Given the description of an element on the screen output the (x, y) to click on. 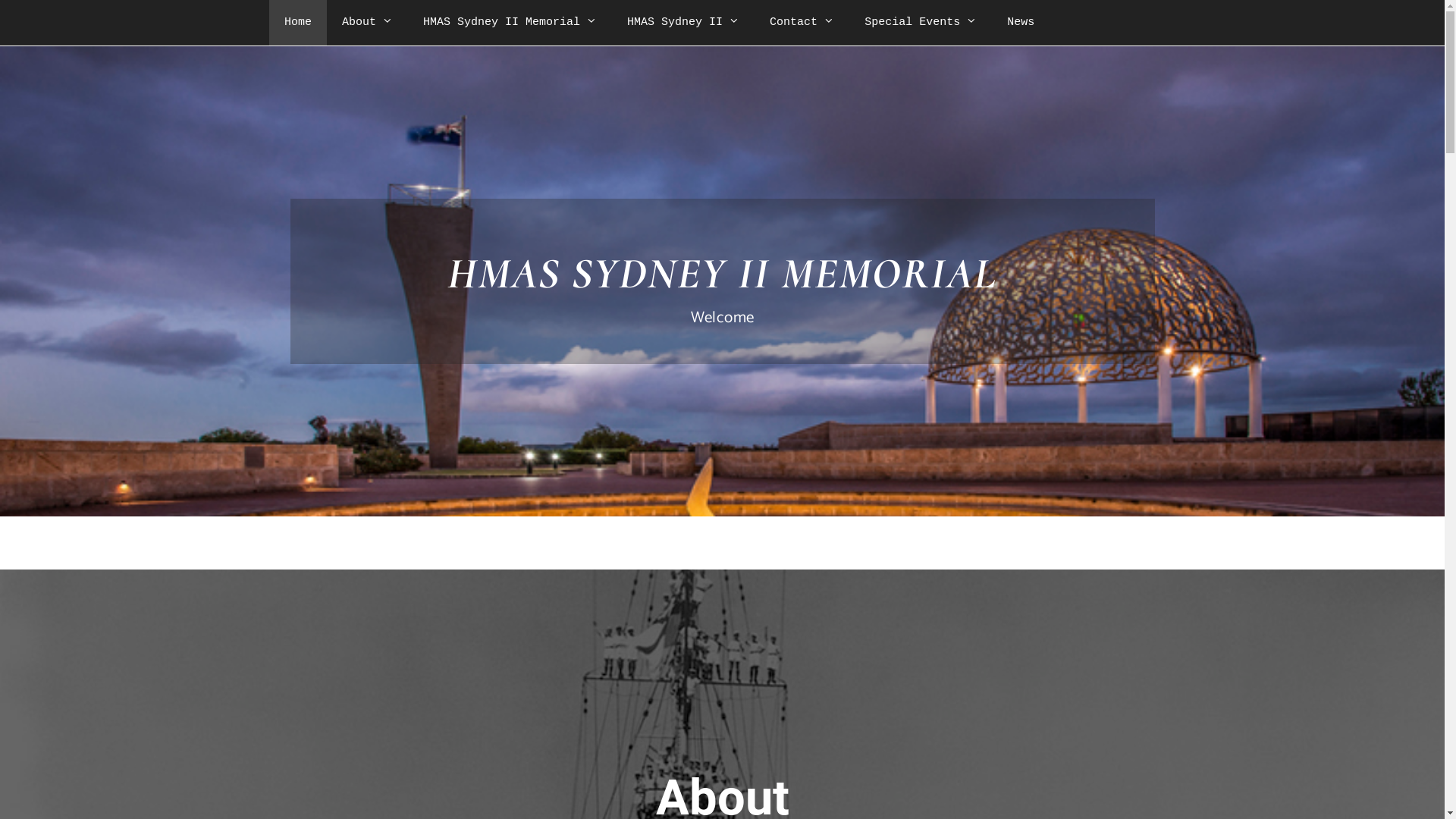
News Element type: text (1020, 22)
Home Element type: text (297, 22)
HMAS Sydney II Element type: text (682, 22)
HMAS Sydney II Memorial Element type: text (509, 22)
About Element type: text (366, 22)
Contact Element type: text (801, 22)
Special Events Element type: text (920, 22)
